Given the description of an element on the screen output the (x, y) to click on. 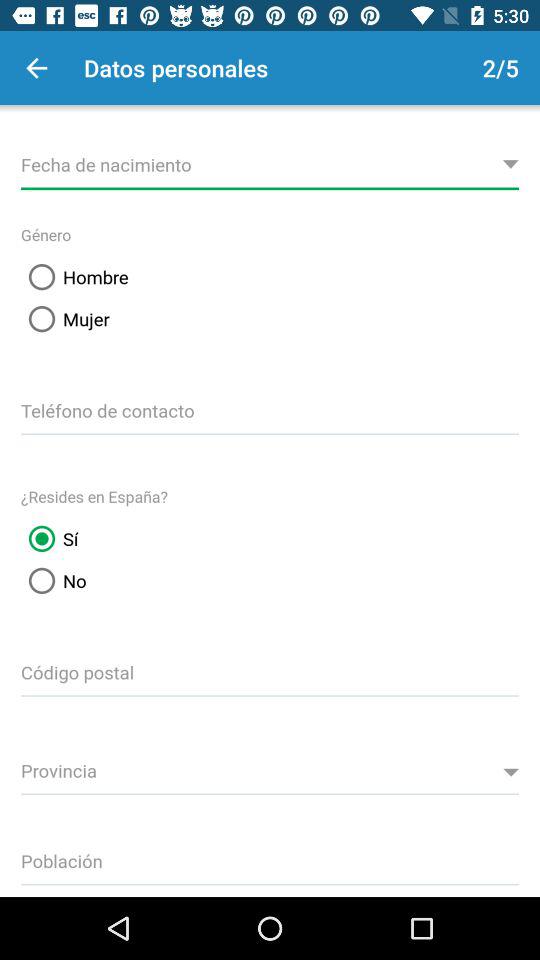
text box enter postal code (270, 669)
